Given the description of an element on the screen output the (x, y) to click on. 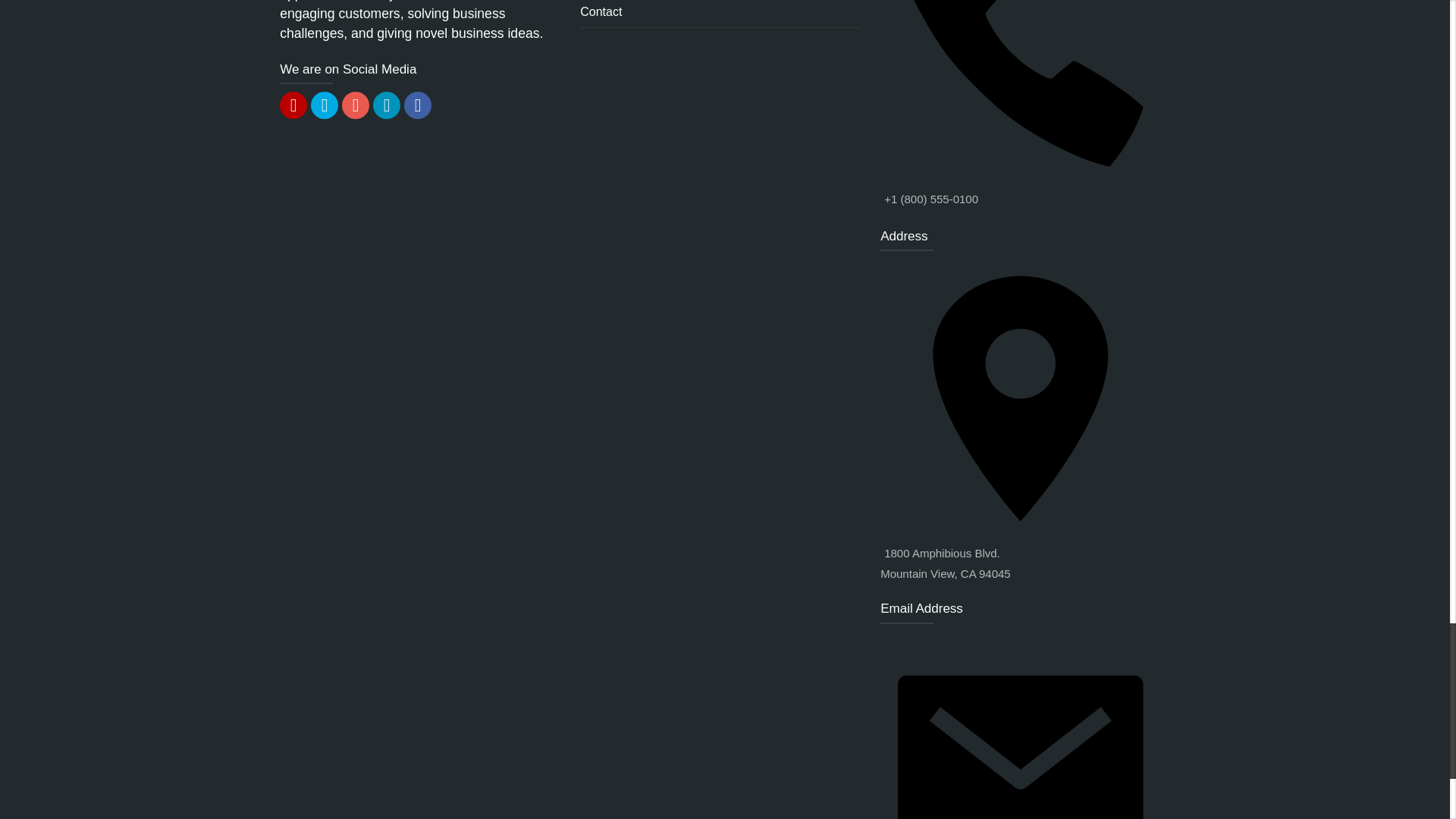
Contact (719, 13)
